Given the description of an element on the screen output the (x, y) to click on. 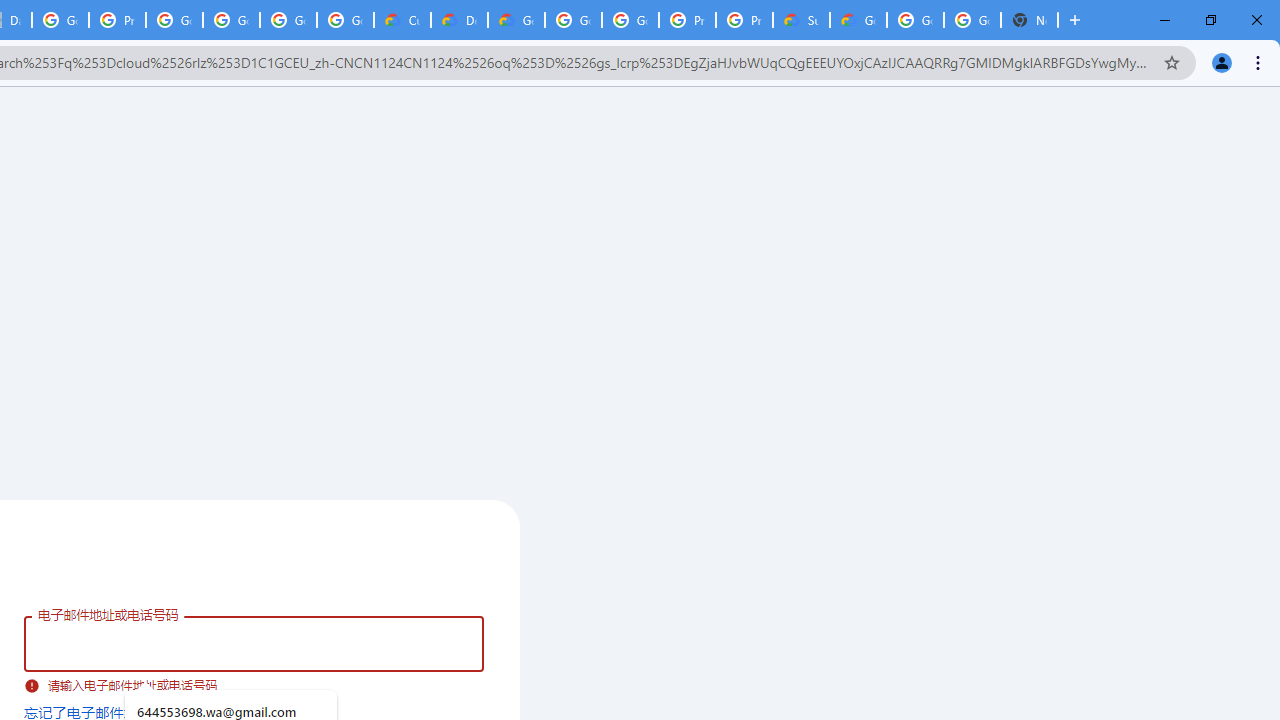
Google Cloud Platform (915, 20)
Google Cloud Platform (630, 20)
Customer Care | Google Cloud (402, 20)
Google Cloud Platform (573, 20)
